Given the description of an element on the screen output the (x, y) to click on. 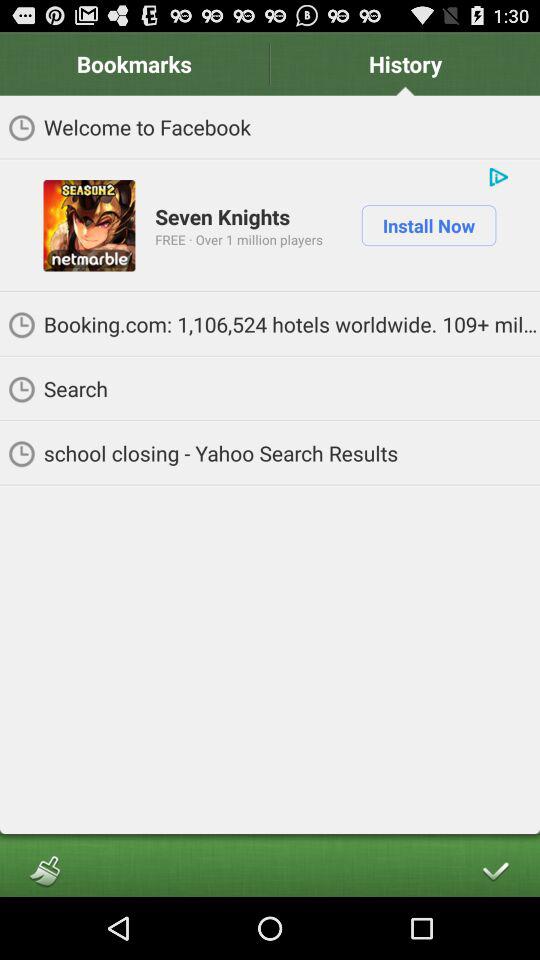
tap the app below the school closing yahoo icon (45, 870)
